Given the description of an element on the screen output the (x, y) to click on. 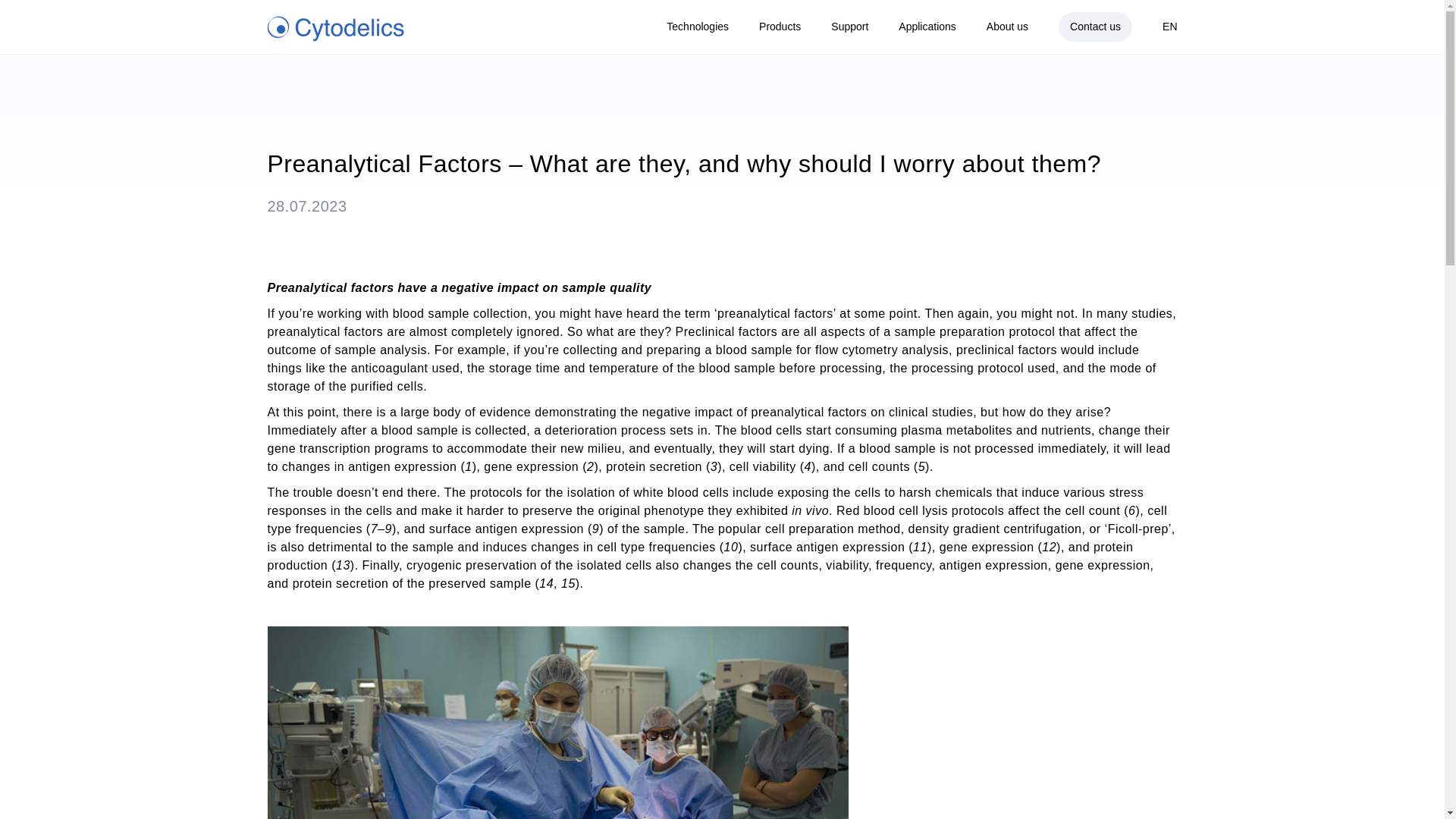
Products (779, 25)
Contact us (1095, 27)
Applications (927, 25)
Technologies (697, 25)
Support (849, 25)
About us (1007, 25)
